Given the description of an element on the screen output the (x, y) to click on. 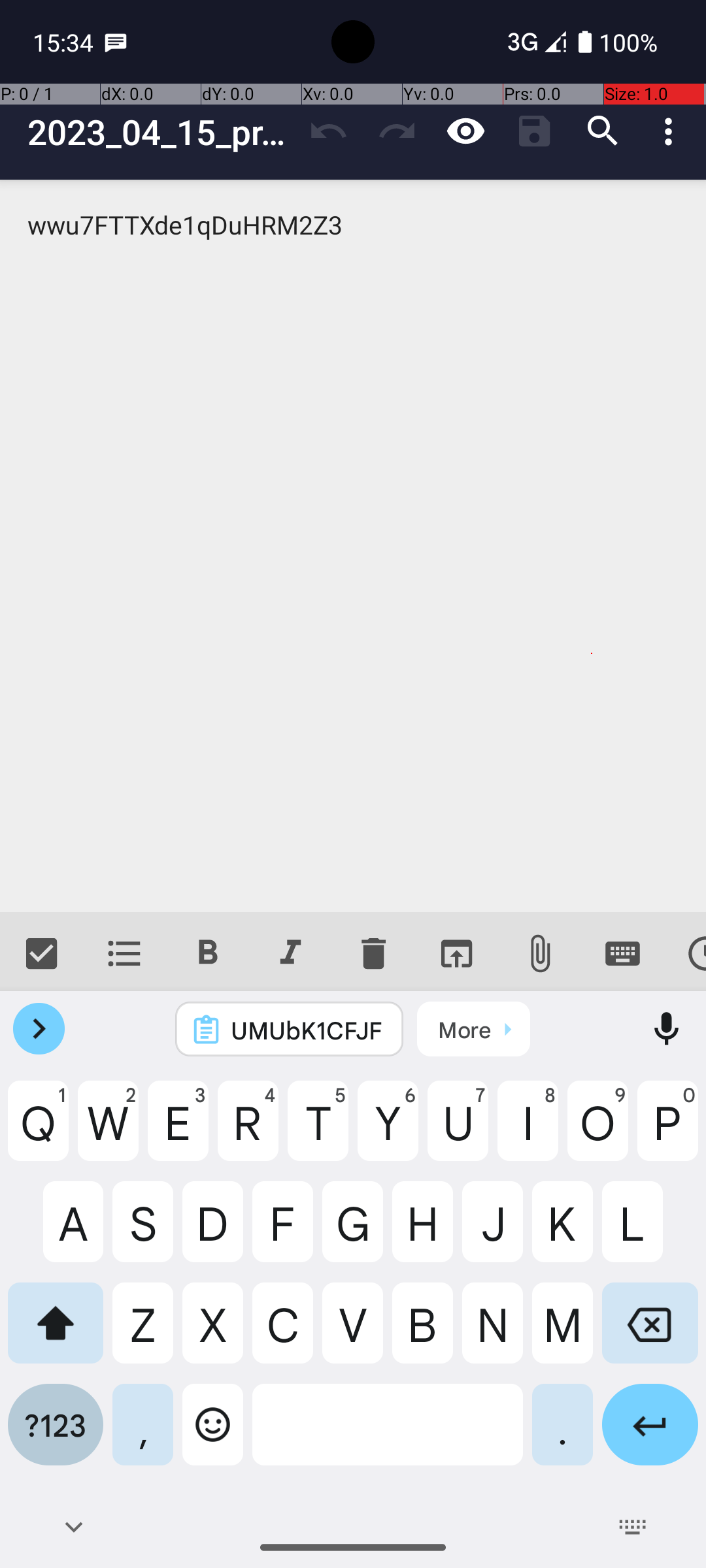
2023_04_15_proud_guitar Element type: android.widget.TextView (160, 131)
wwu7FTTXde1qDuHRM2Z3
 Element type: android.widget.EditText (353, 545)
UMUbK1CFJF Element type: android.widget.TextView (306, 1029)
